Given the description of an element on the screen output the (x, y) to click on. 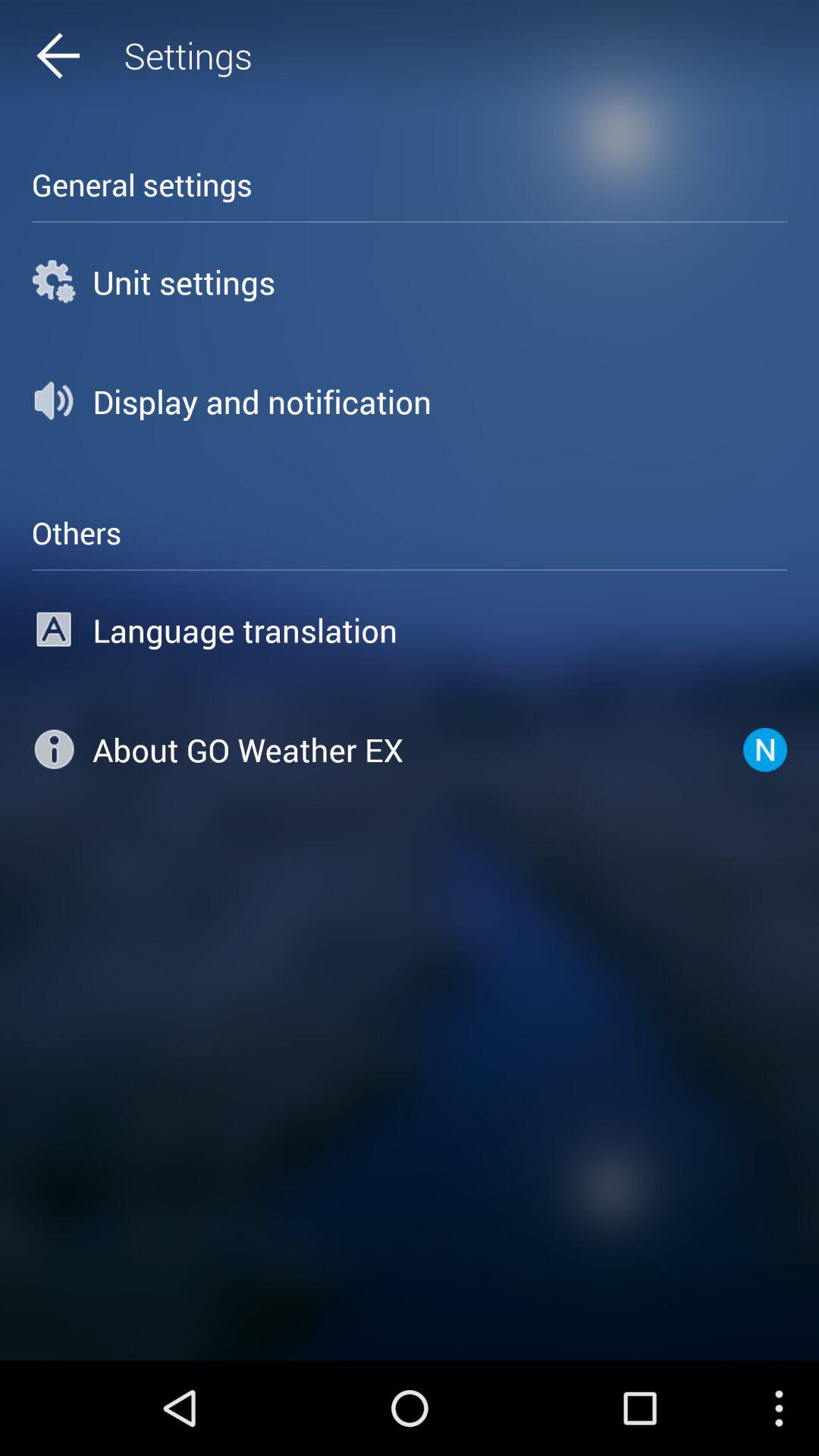
jump until unit settings item (409, 281)
